Given the description of an element on the screen output the (x, y) to click on. 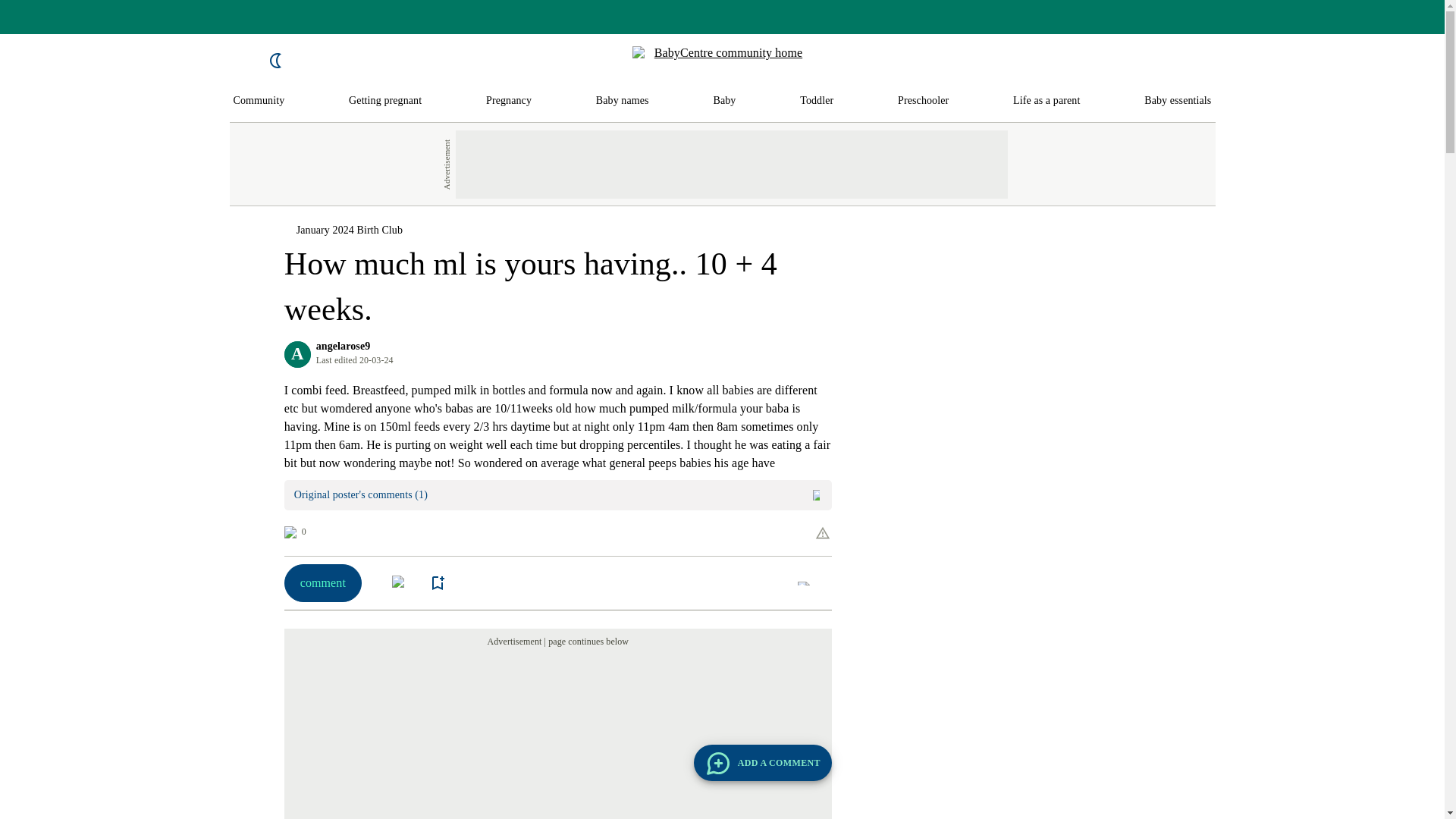
Community (258, 101)
Pregnancy (508, 101)
Toddler (815, 101)
Preschooler (923, 101)
Getting pregnant (385, 101)
Baby (724, 101)
Life as a parent (1046, 101)
Baby names (622, 101)
Baby essentials (1177, 101)
